Given the description of an element on the screen output the (x, y) to click on. 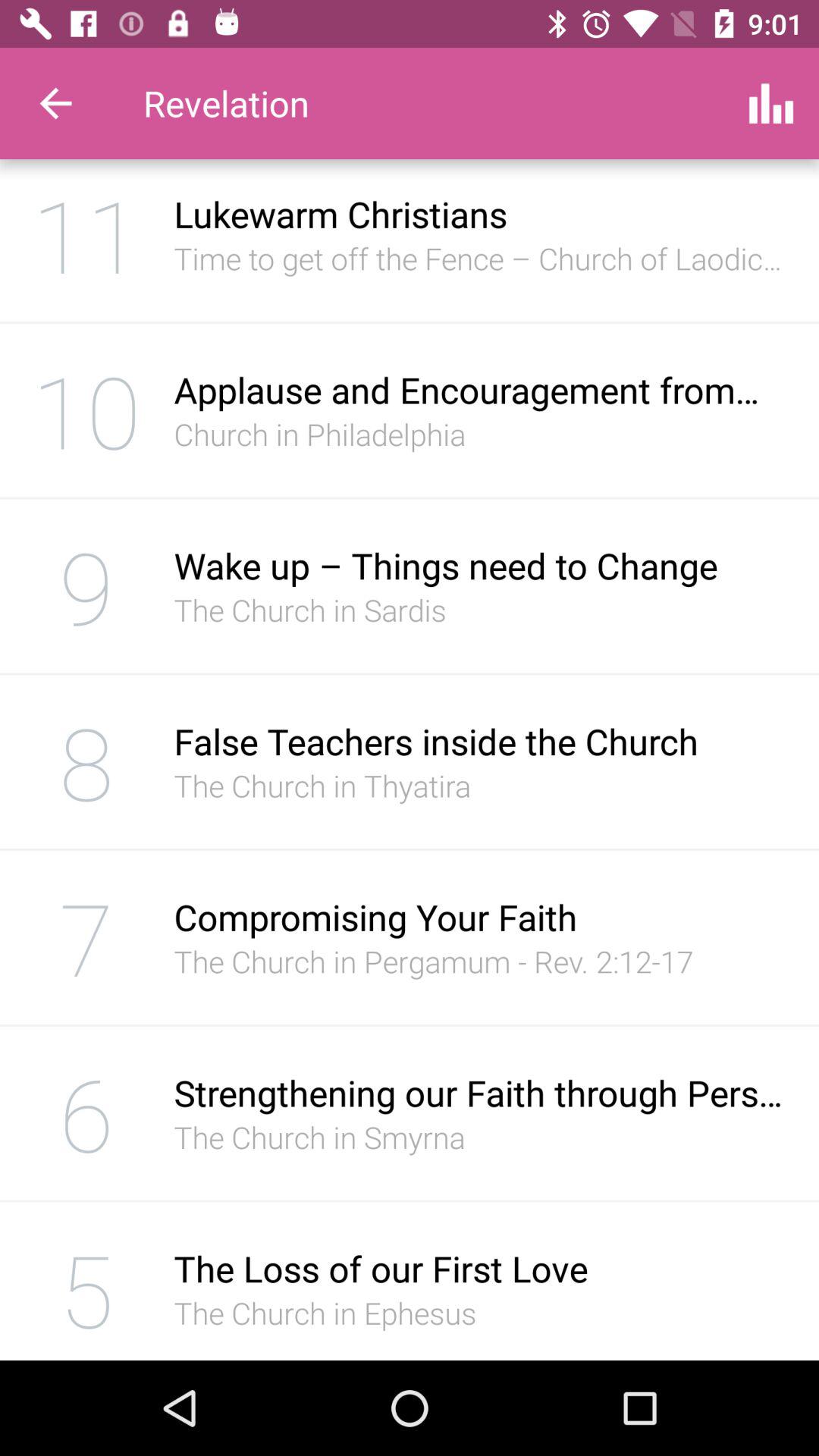
choose icon next to the revelation item (55, 103)
